Given the description of an element on the screen output the (x, y) to click on. 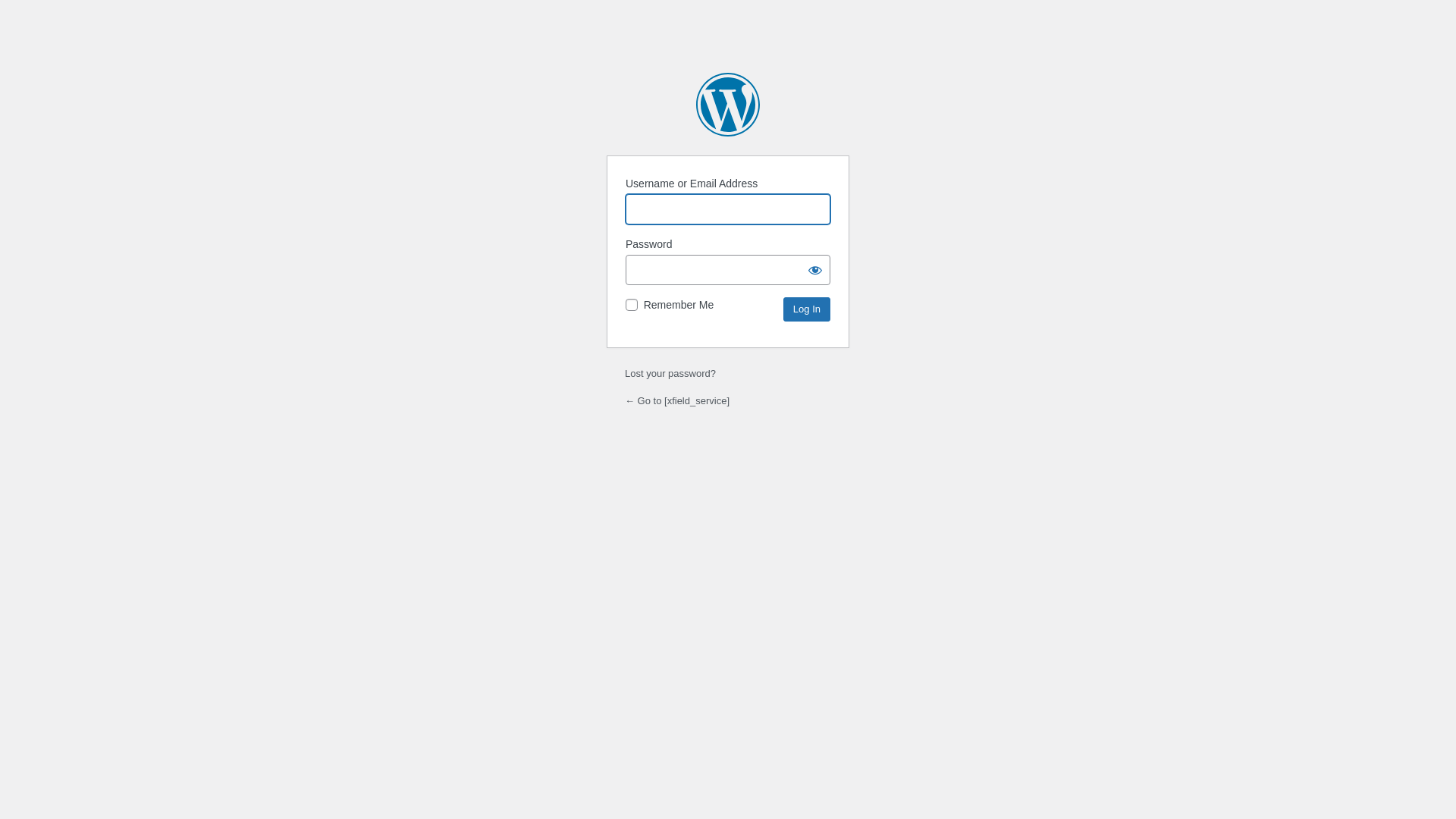
Log In Element type: text (806, 309)
Powered by WordPress Element type: text (727, 104)
Lost your password? Element type: text (669, 373)
